Given the description of an element on the screen output the (x, y) to click on. 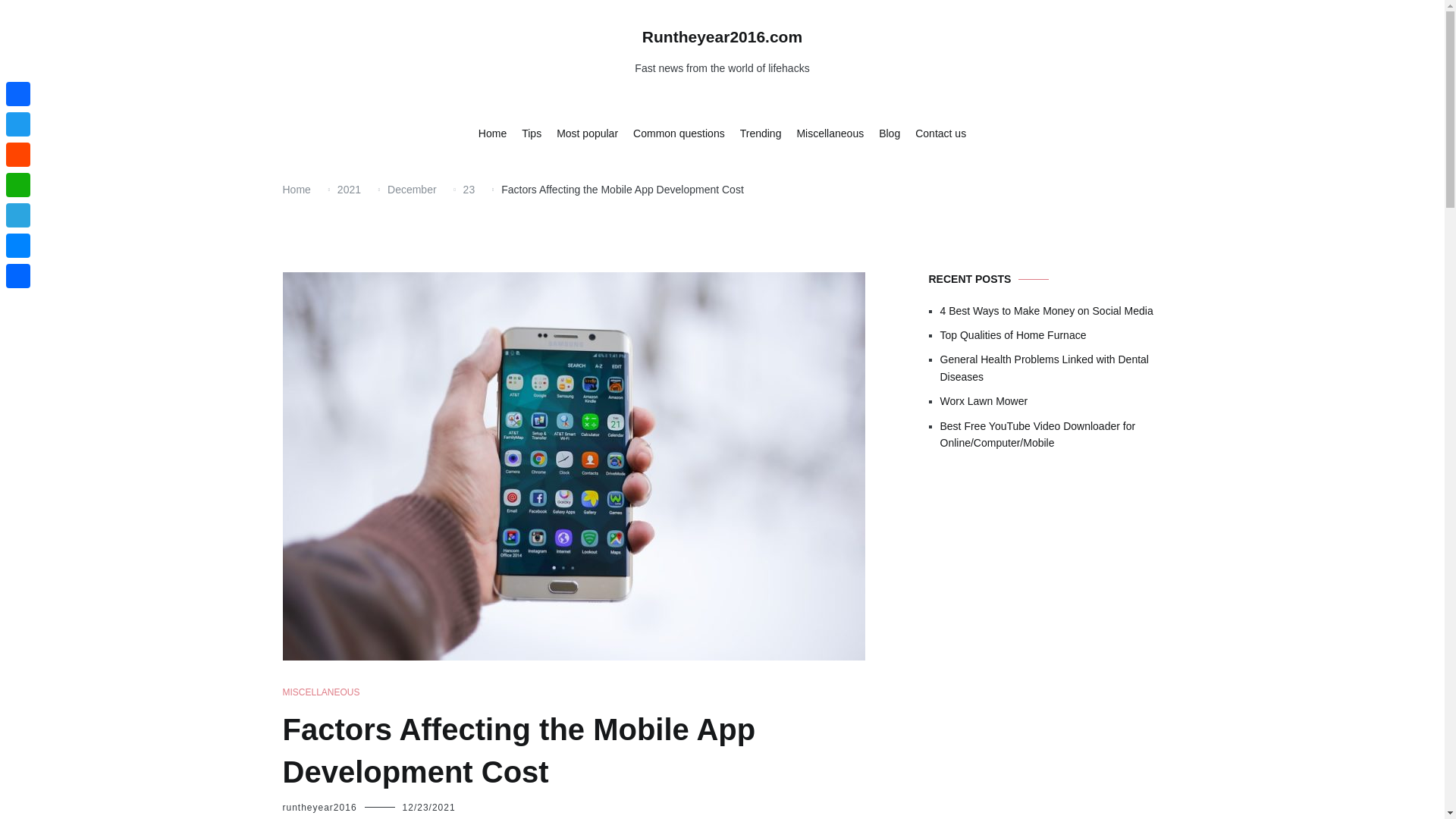
MISCELLANEOUS (320, 692)
Miscellaneous (829, 134)
Reddit (17, 154)
General Health Problems Linked with Dental Diseases (1050, 367)
Twitter (17, 123)
23 (469, 189)
Worx Lawn Mower (1050, 401)
Trending (760, 134)
Common questions (679, 134)
4 Best Ways to Make Money on Social Media (1050, 310)
WhatsApp (17, 184)
Home (296, 189)
December (411, 189)
2021 (349, 189)
Runtheyear2016.com (722, 36)
